Given the description of an element on the screen output the (x, y) to click on. 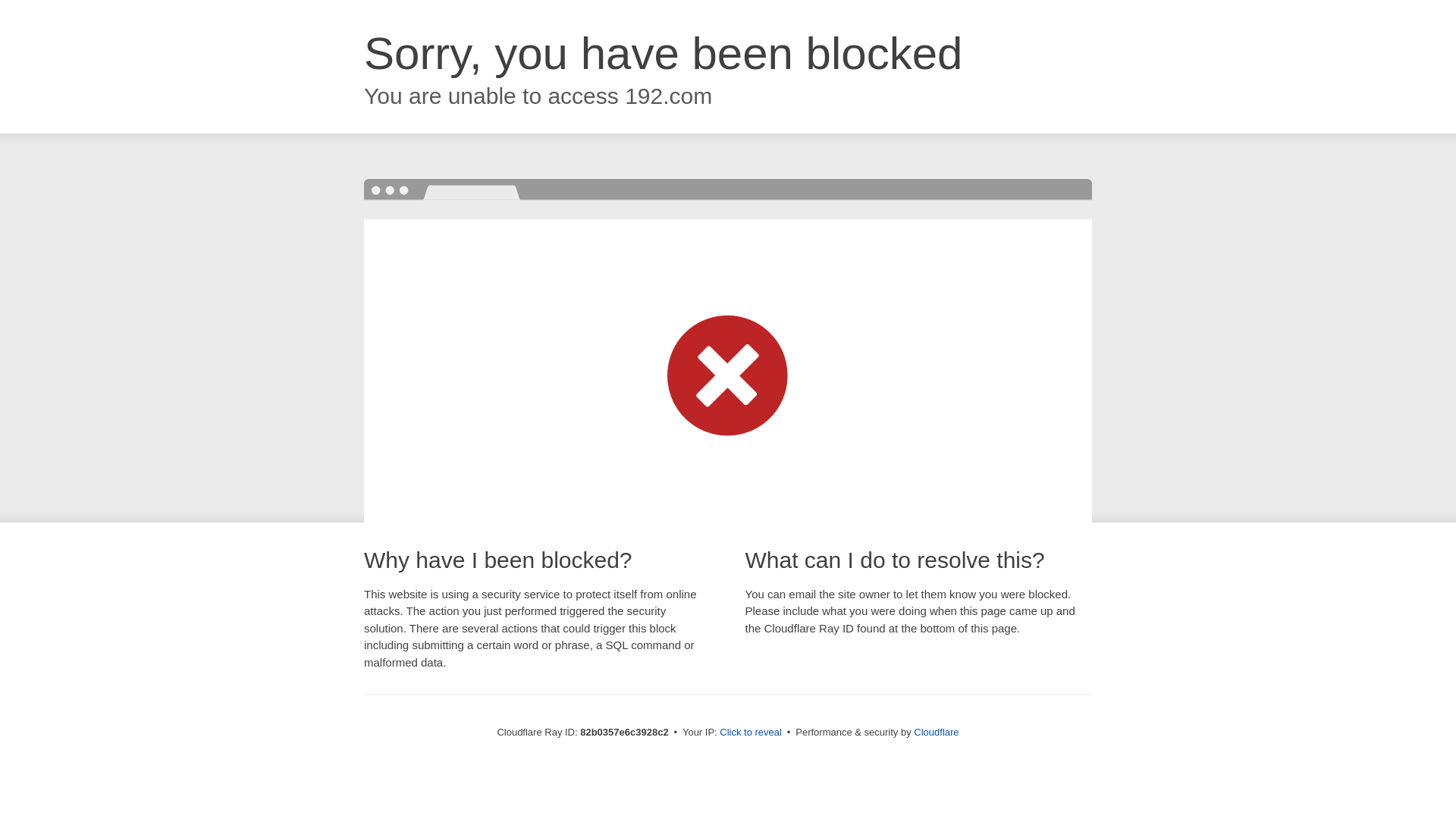
Cloudflare Element type: text (935, 731)
Click to reveal Element type: text (750, 732)
